Given the description of an element on the screen output the (x, y) to click on. 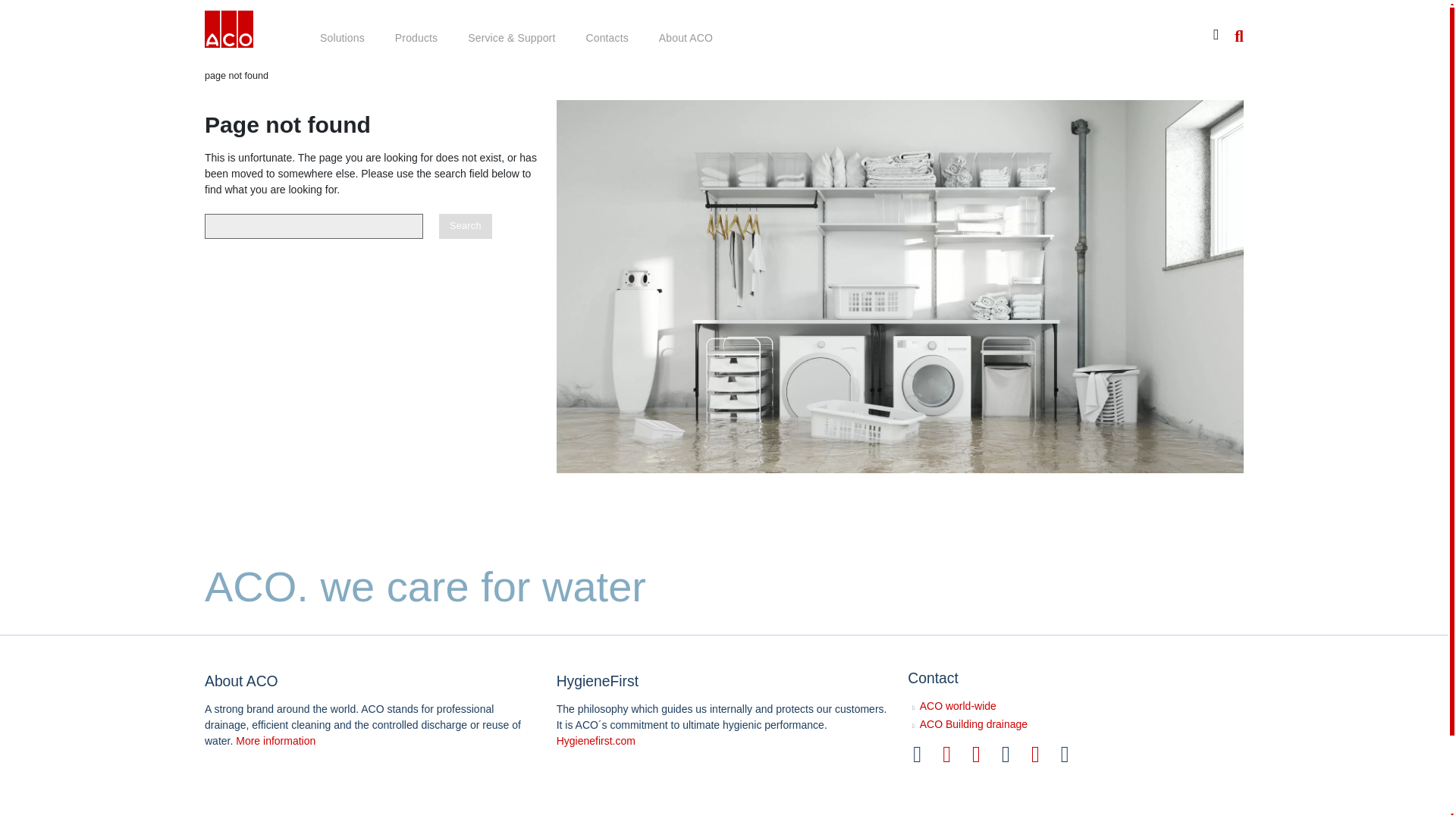
Solutions (341, 38)
Building Drainage (229, 28)
Solutions (341, 38)
Products (416, 38)
Building Drainage (229, 31)
